Given the description of an element on the screen output the (x, y) to click on. 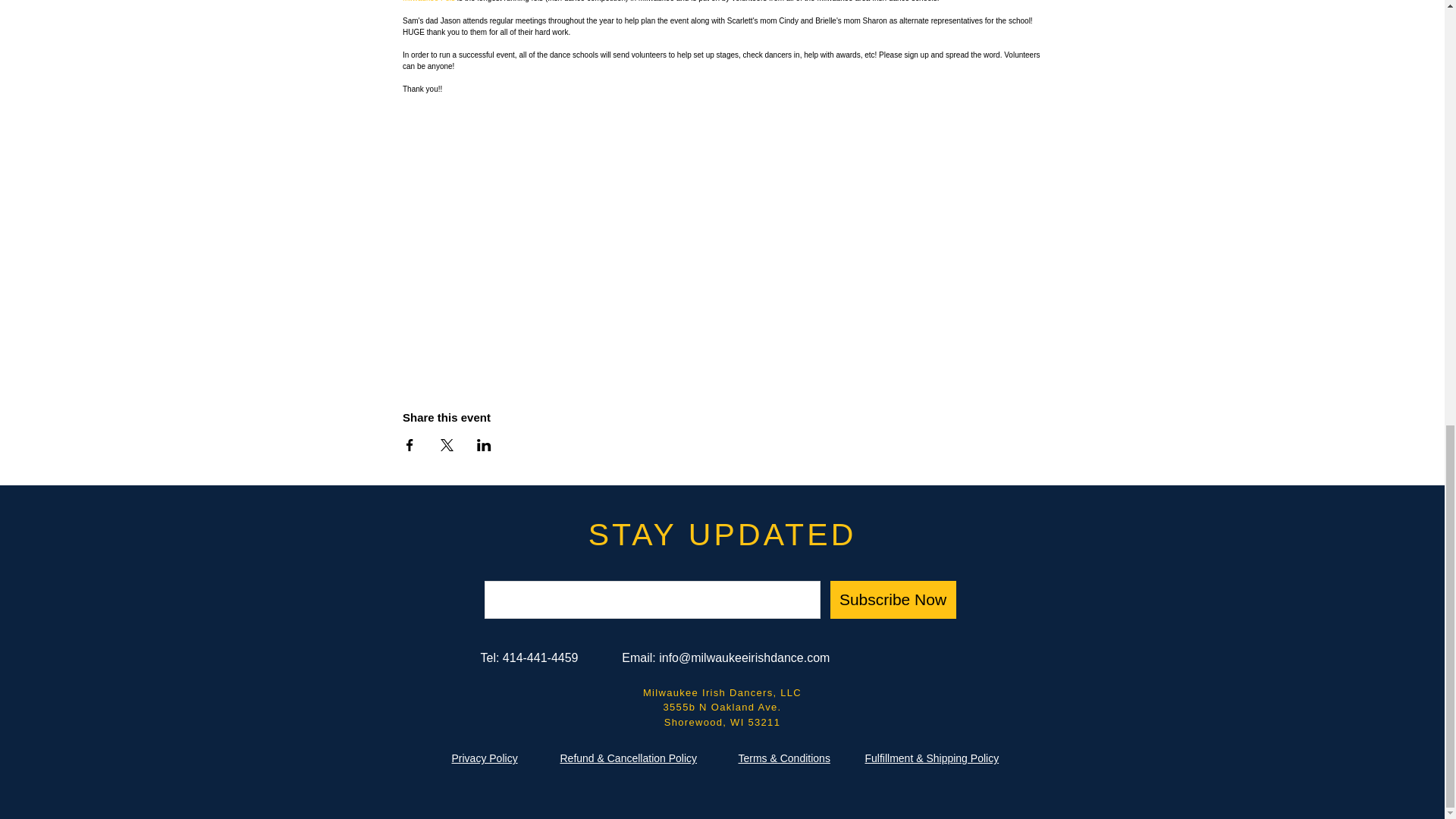
Milwaukee Feis (430, 1)
Subscribe Now (892, 599)
Privacy Policy (484, 758)
